Given the description of an element on the screen output the (x, y) to click on. 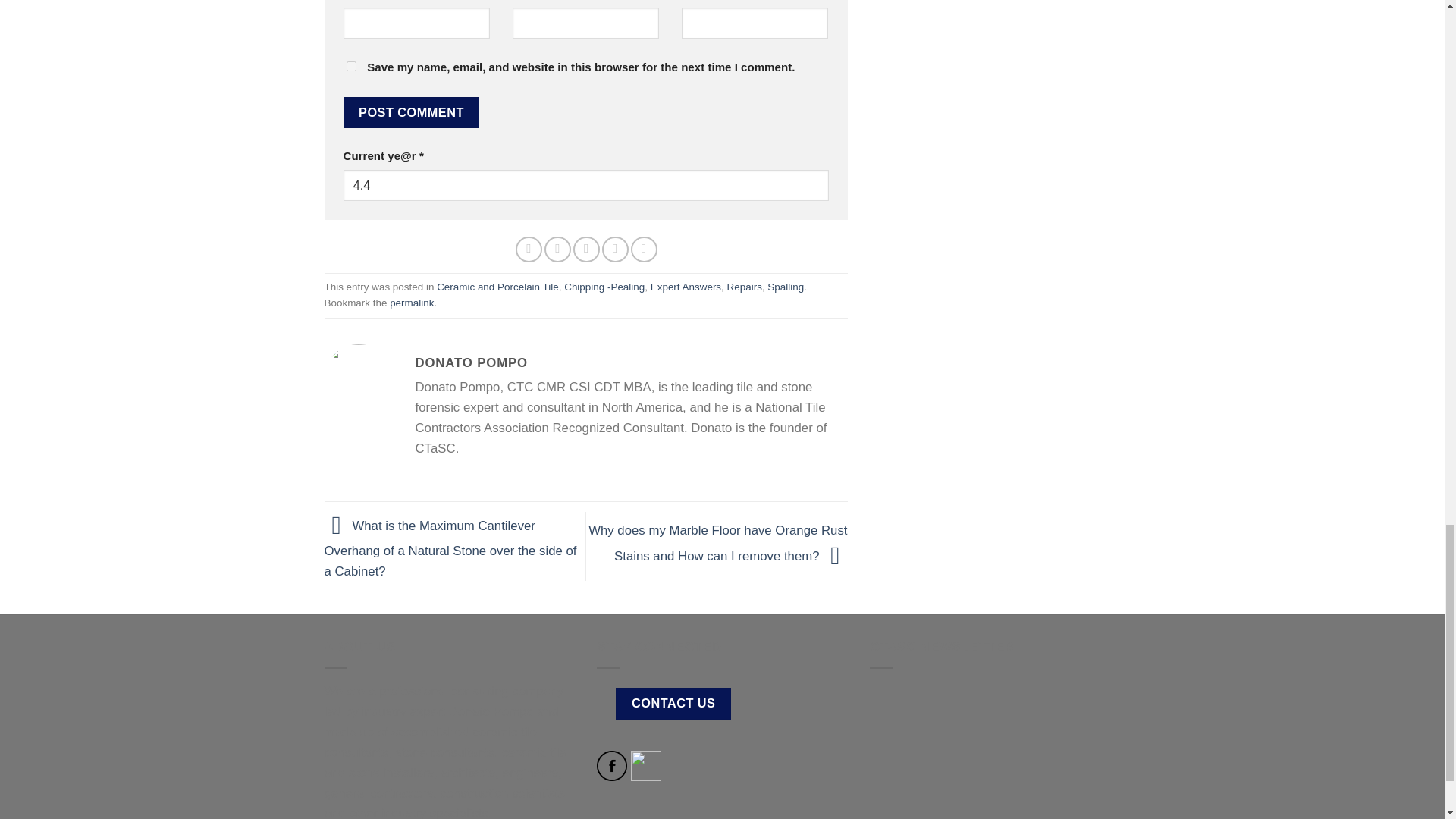
4.4 (585, 184)
Post Comment (410, 112)
yes (350, 66)
